Given the description of an element on the screen output the (x, y) to click on. 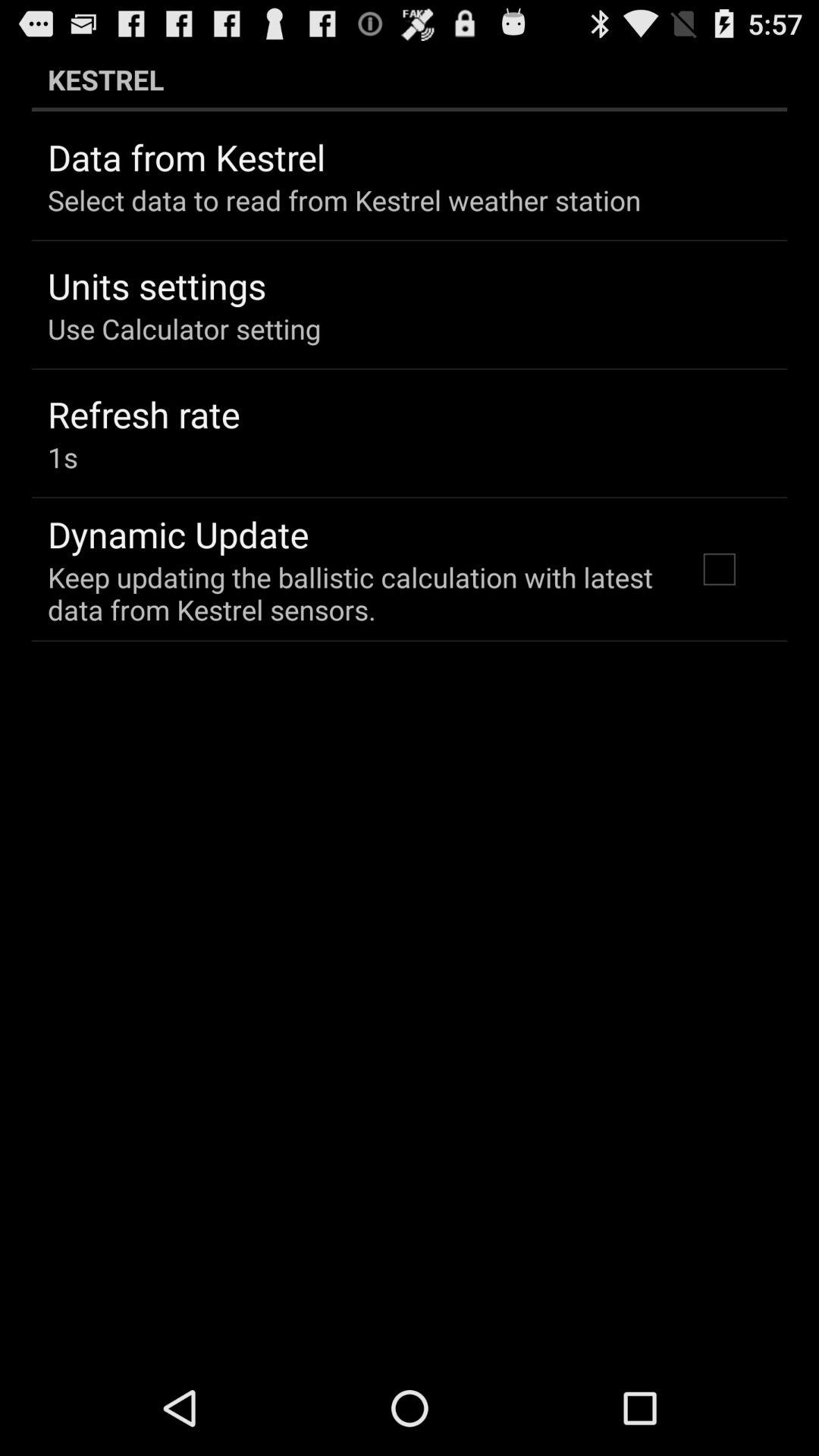
click use calculator setting (183, 328)
